Given the description of an element on the screen output the (x, y) to click on. 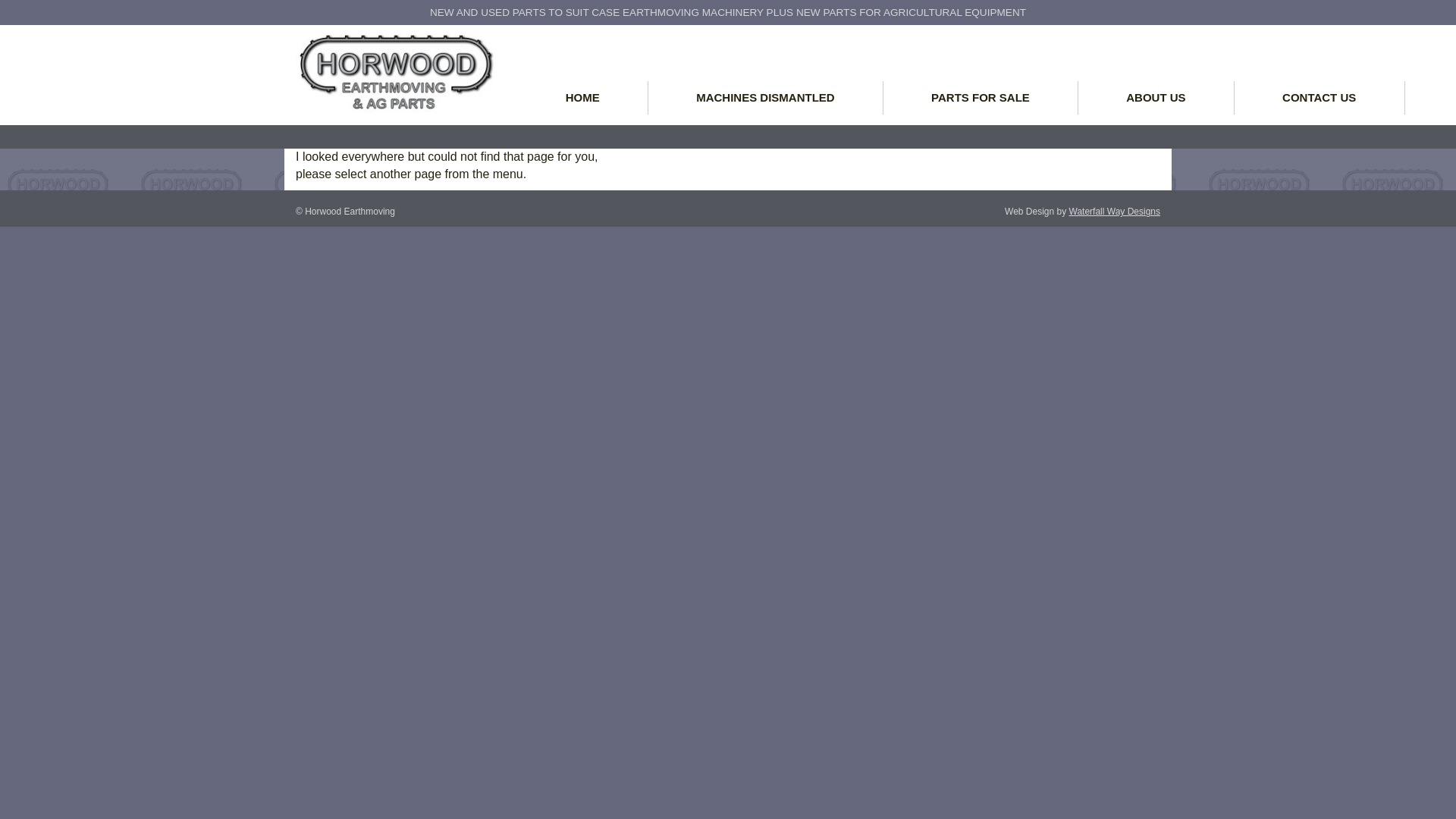
PARTS FOR SALE Element type: text (980, 97)
Waterfall Way Designs Element type: text (1114, 211)
HOME Element type: text (582, 97)
ABOUT US Element type: text (1156, 97)
MACHINES DISMANTLED Element type: text (765, 97)
CONTACT US Element type: text (1319, 97)
